Given the description of an element on the screen output the (x, y) to click on. 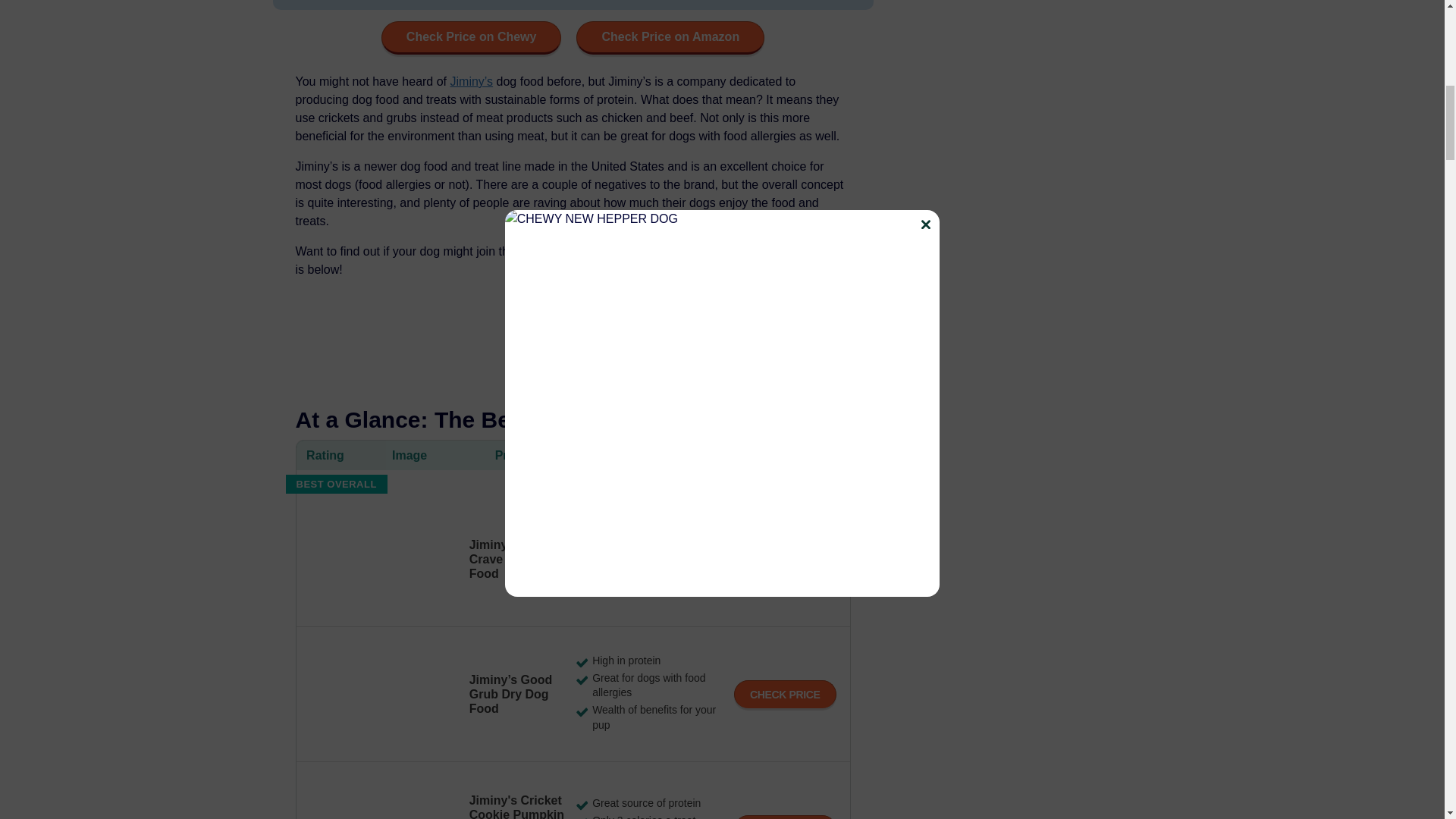
Check Price on Chewy (471, 37)
Check Price on Amazon (670, 37)
CHECK PRICE (784, 559)
